Given the description of an element on the screen output the (x, y) to click on. 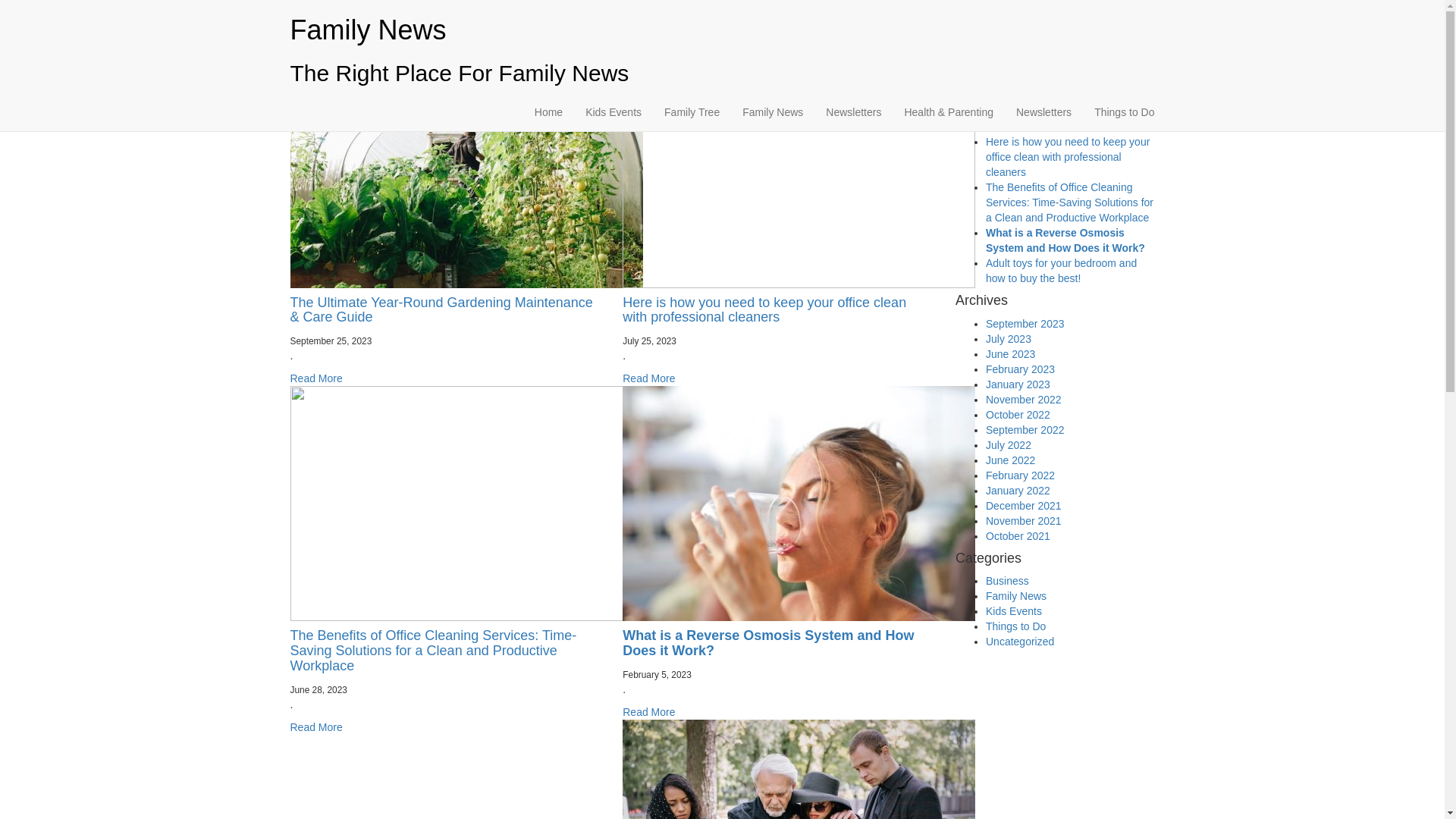
June 2022 Element type: text (1010, 460)
What is a Reverse Osmosis System and How Does it Work? Element type: text (1065, 240)
October 2021 Element type: text (1017, 536)
Adult toys for your bedroom and how to buy the best! Element type: text (1060, 270)
Things to Do Element type: text (1015, 626)
Health & Parenting Element type: text (948, 112)
January 2023 Element type: text (1017, 384)
Read More Element type: text (648, 378)
Search Element type: text (978, 48)
Family News Element type: text (1015, 595)
July 2022 Element type: text (1008, 445)
February 2022 Element type: text (1019, 475)
Read More Element type: text (315, 727)
Kids Events Element type: text (1013, 611)
The Ultimate Year-Round Gardening Maintenance & Care Guide Element type: text (1060, 111)
September 2022 Element type: text (1024, 429)
What is a Reverse Osmosis System and How Does it Work? Element type: text (767, 642)
July 2023 Element type: text (1008, 338)
Kids Events Element type: text (613, 112)
The Ultimate Year-Round Gardening Maintenance & Care Guide Element type: text (440, 309)
Home Element type: text (548, 112)
December 2021 Element type: text (1023, 505)
Things to Do Element type: text (1123, 112)
June 2023 Element type: text (1010, 354)
Read More Element type: text (315, 378)
January 2022 Element type: text (1017, 490)
September 2023 Element type: text (1024, 323)
Family Tree Element type: text (691, 112)
November 2021 Element type: text (1023, 520)
Family News Element type: text (772, 112)
Business Element type: text (1007, 580)
October 2022 Element type: text (1017, 414)
Read More Element type: text (648, 712)
Uncategorized Element type: text (1019, 641)
Newsletters Element type: text (853, 112)
February 2023 Element type: text (1019, 369)
Newsletters Element type: text (1043, 112)
November 2022 Element type: text (1023, 399)
Family News
The Right Place For Family News Element type: text (458, 50)
